Given the description of an element on the screen output the (x, y) to click on. 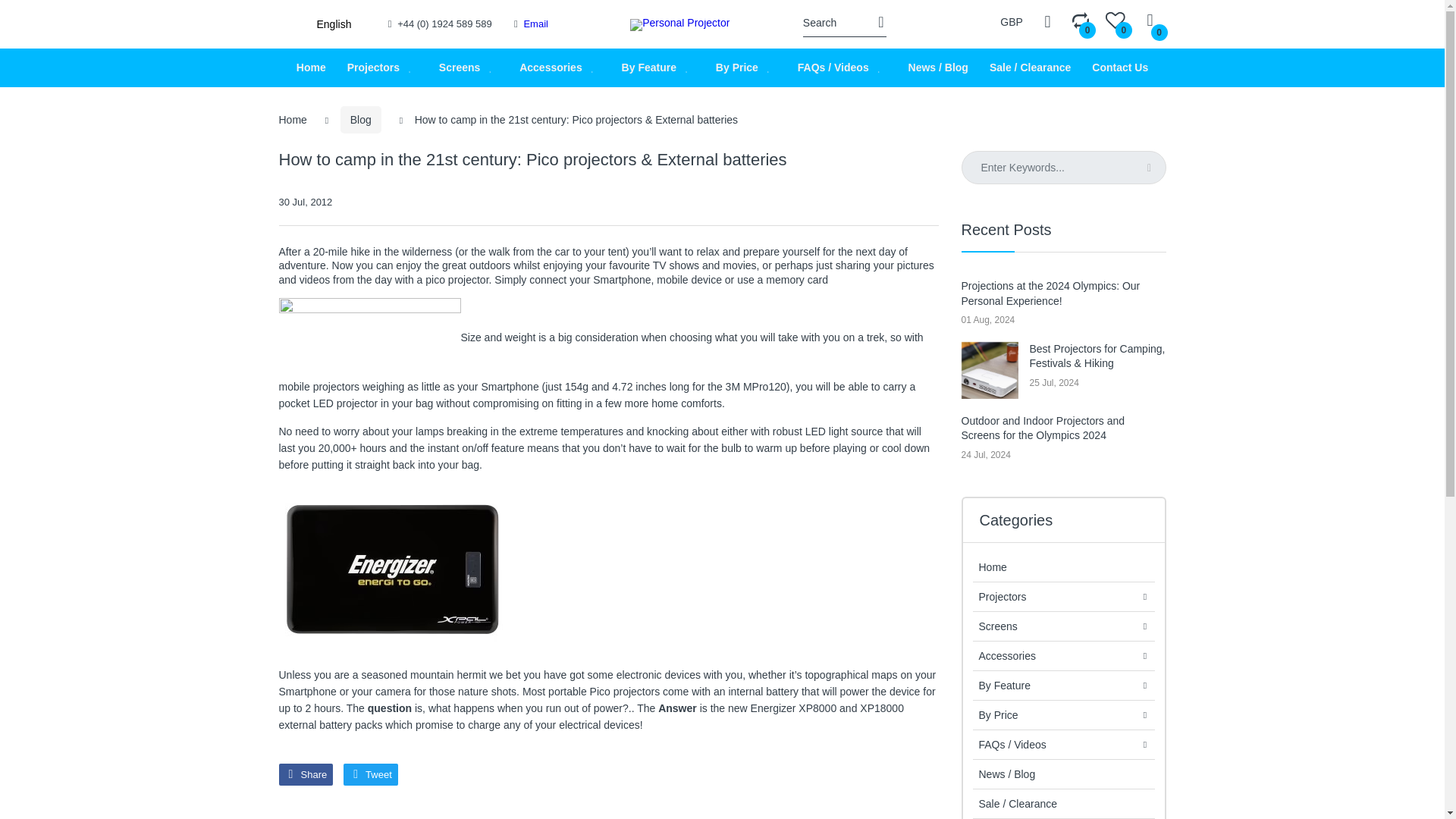
Projectors (372, 67)
My Account (1048, 21)
Personal Projector  (679, 24)
Facebook (306, 774)
Screens (459, 67)
3MMPro120-Microbeamer (370, 338)
0 (1115, 21)
01 (392, 569)
Twitter (370, 774)
Email (535, 23)
